Given the description of an element on the screen output the (x, y) to click on. 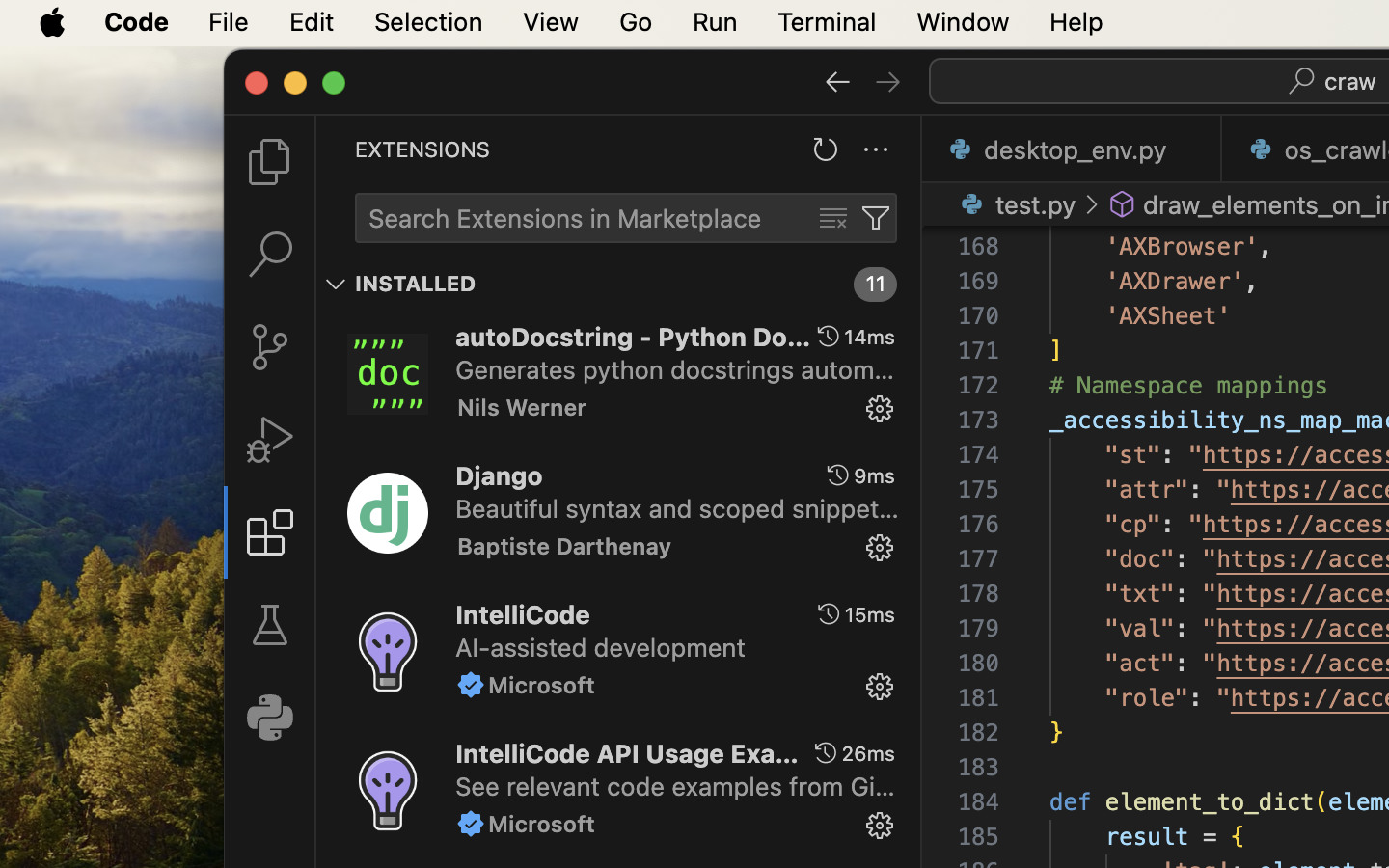
9ms Element type: AXStaticText (874, 475)
 Element type: AXStaticText (335, 283)
 Element type: AXGroup (269, 161)
EXTENSIONS Element type: AXStaticText (422, 149)
 Element type: AXStaticText (875, 217)
